Given the description of an element on the screen output the (x, y) to click on. 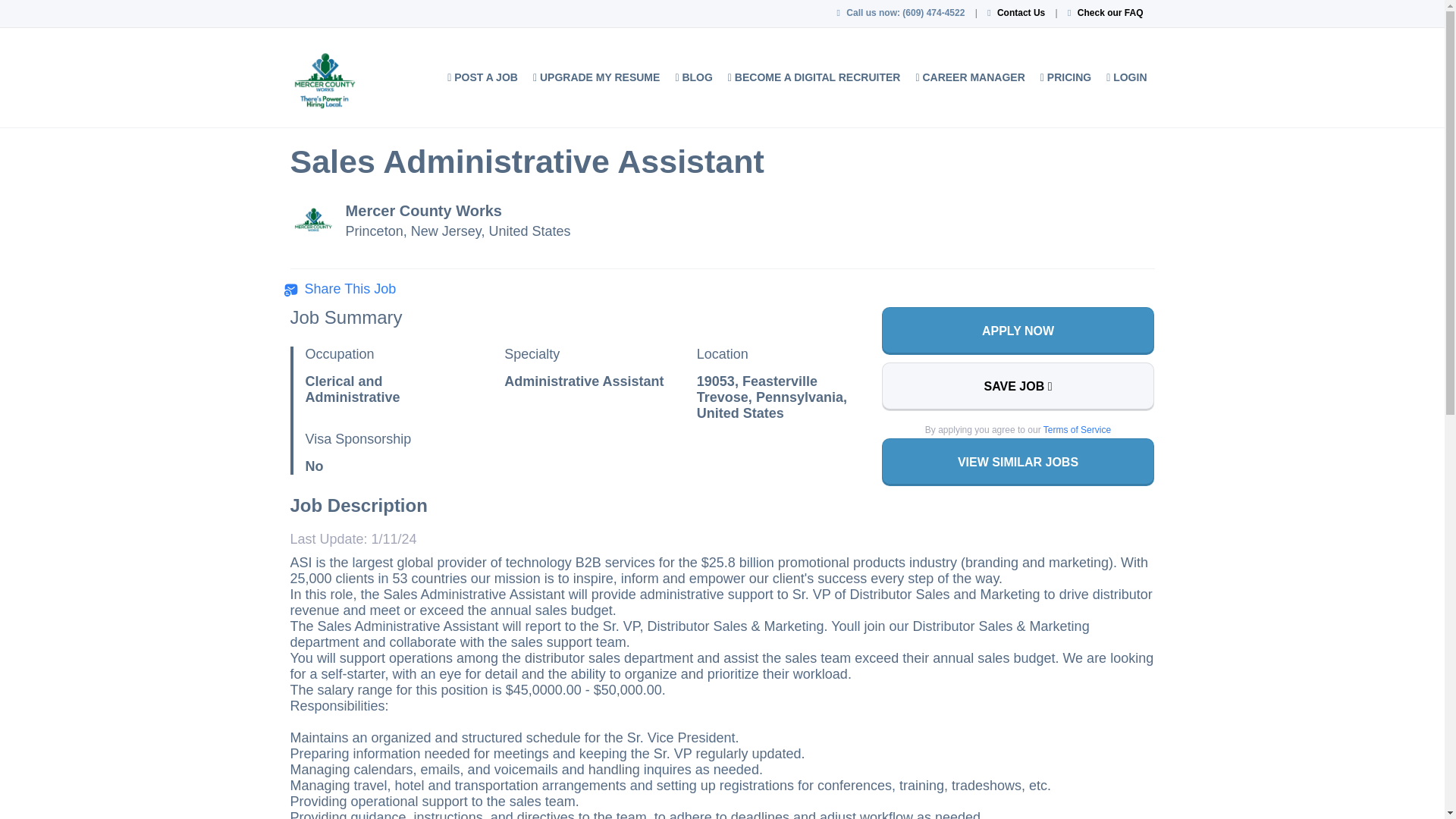
CAREER MANAGER (969, 77)
UPGRADE MY RESUME (595, 77)
Check our FAQ (1109, 12)
Terms of Service (1076, 429)
BECOME A DIGITAL RECRUITER (814, 77)
VIEW SIMILAR JOBS (1017, 462)
APPLY NOW (1017, 330)
Share This Job (340, 289)
Contact Us (1021, 12)
SAVE JOB (1017, 386)
Mercer County Works (424, 210)
